Given the description of an element on the screen output the (x, y) to click on. 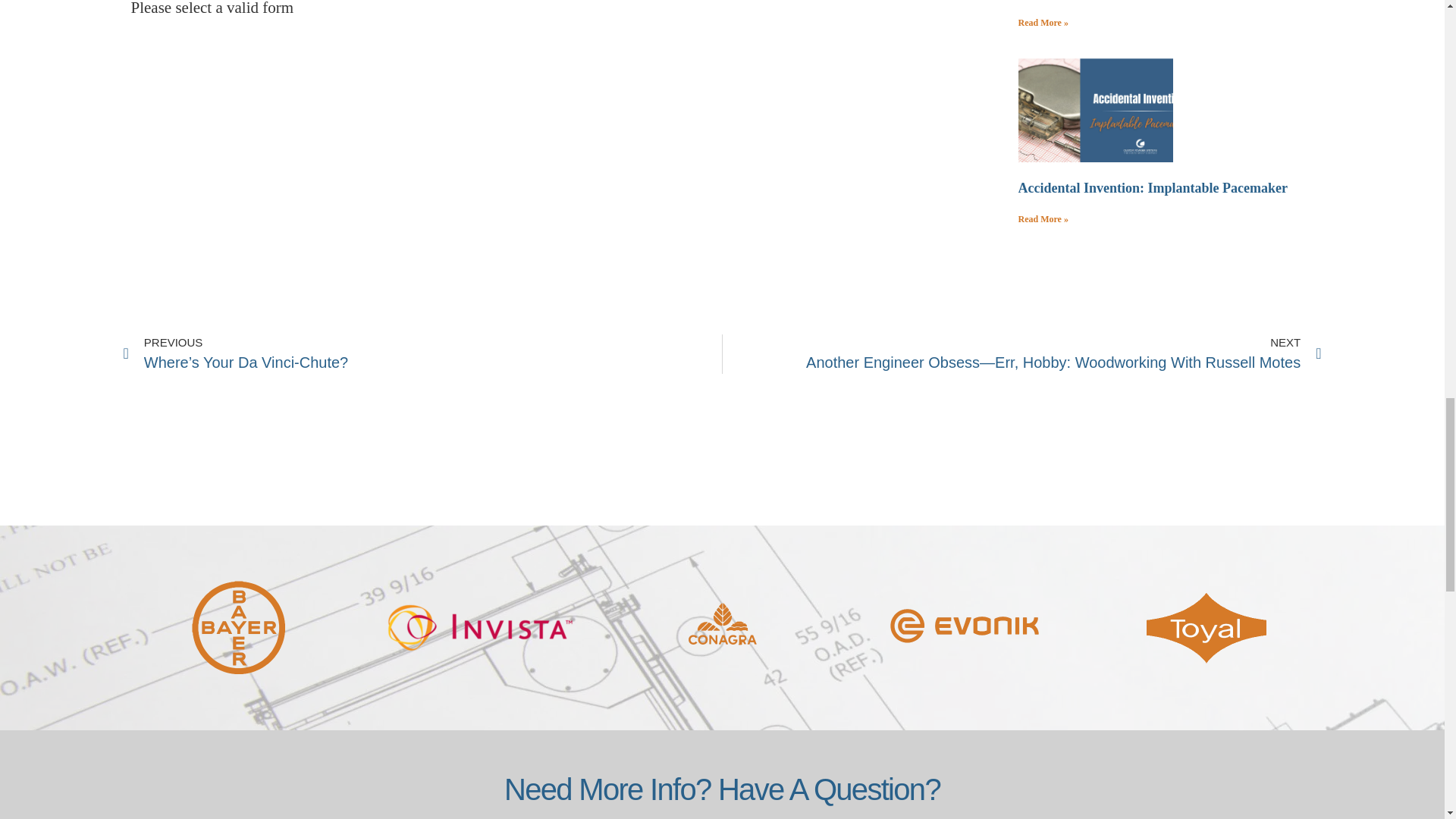
Screenshot 2023-09-06 at 4.36.38 PM (1093, 110)
